Given the description of an element on the screen output the (x, y) to click on. 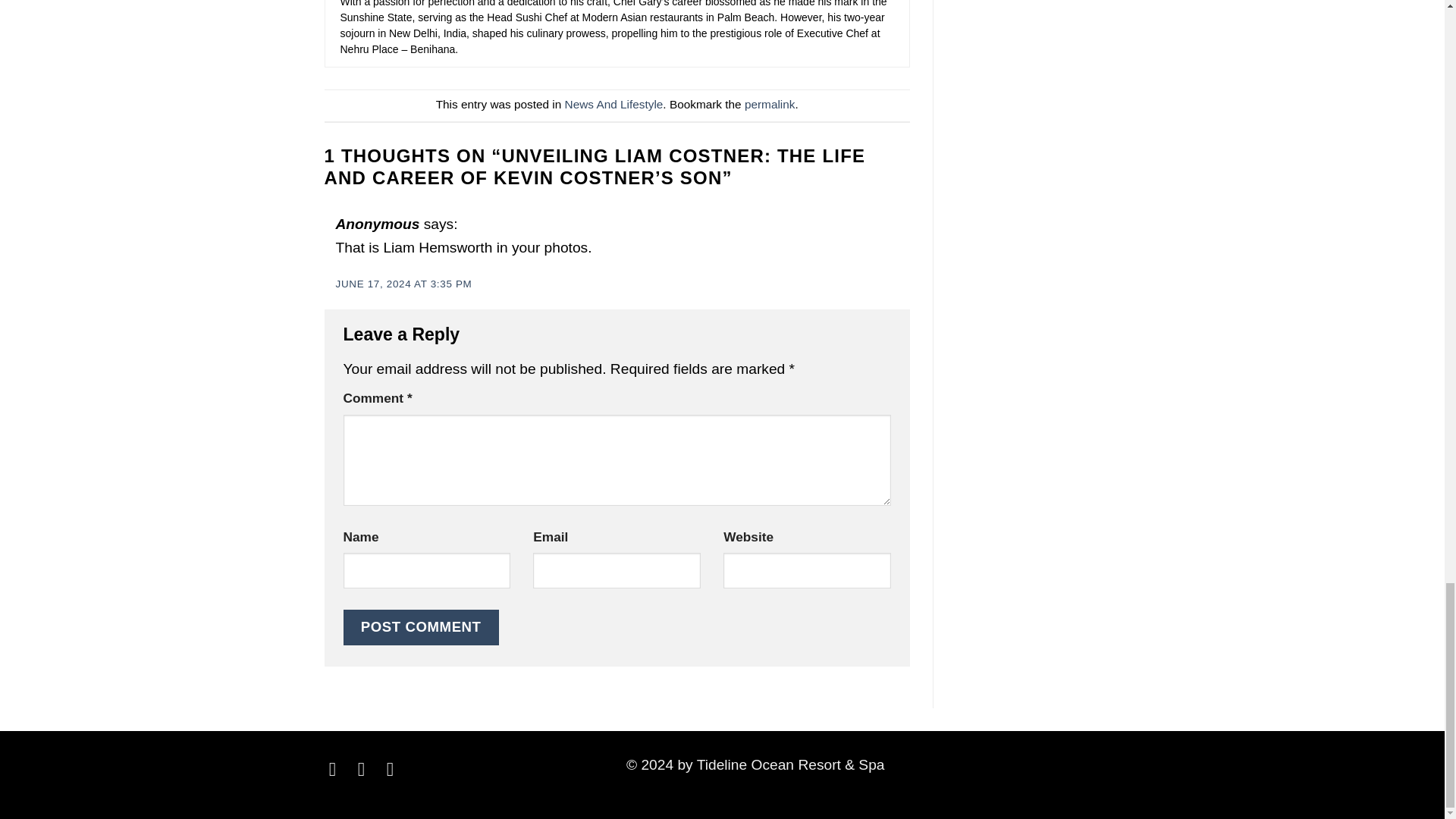
Follow on Instagram (367, 768)
Post Comment (419, 627)
permalink (769, 103)
Follow on Facebook (338, 768)
News And Lifestyle (613, 103)
Post Comment (419, 627)
Follow on Twitter (396, 768)
